Given the description of an element on the screen output the (x, y) to click on. 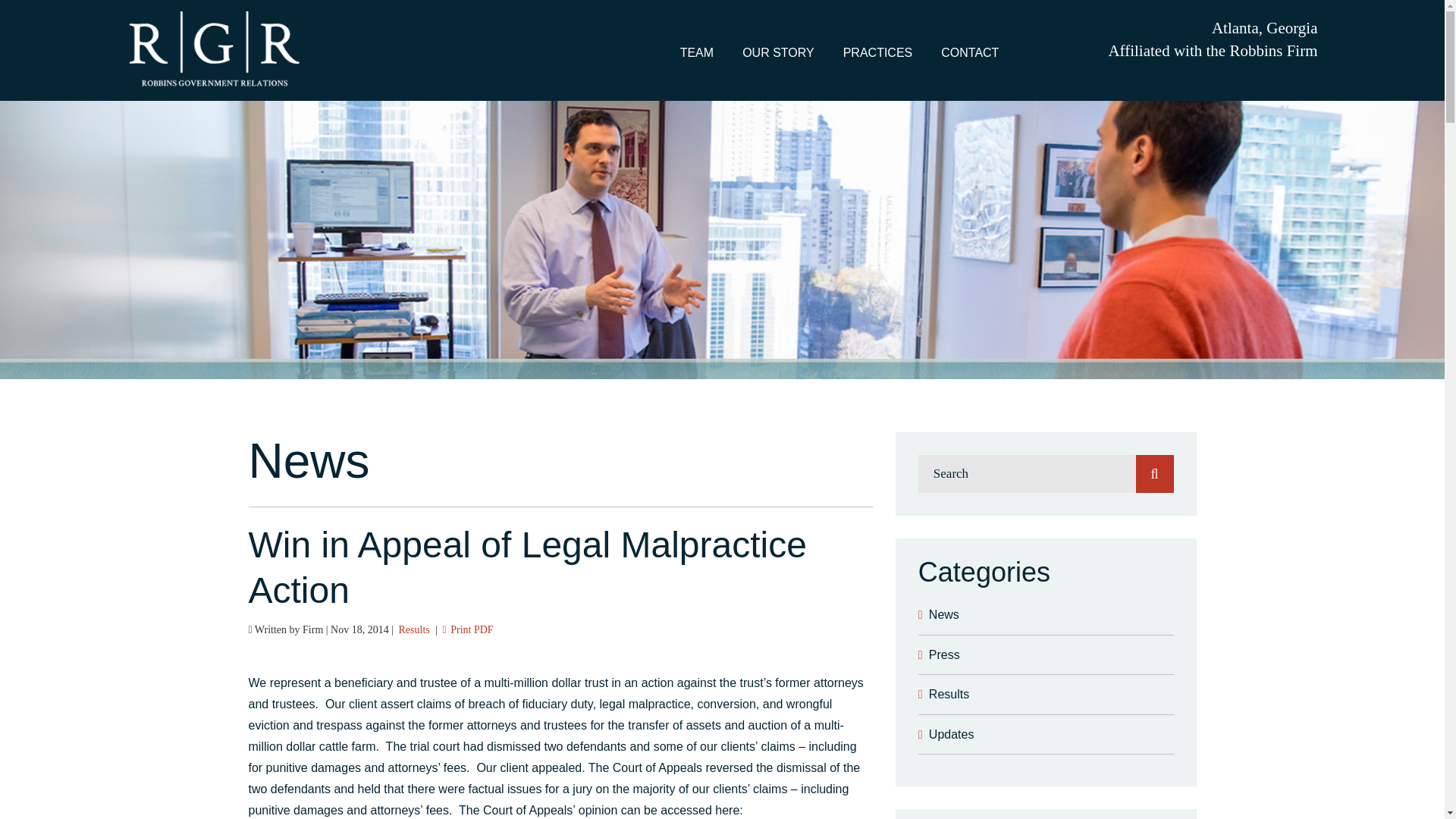
Affiliated with the Robbins Firm (1212, 50)
